Given the description of an element on the screen output the (x, y) to click on. 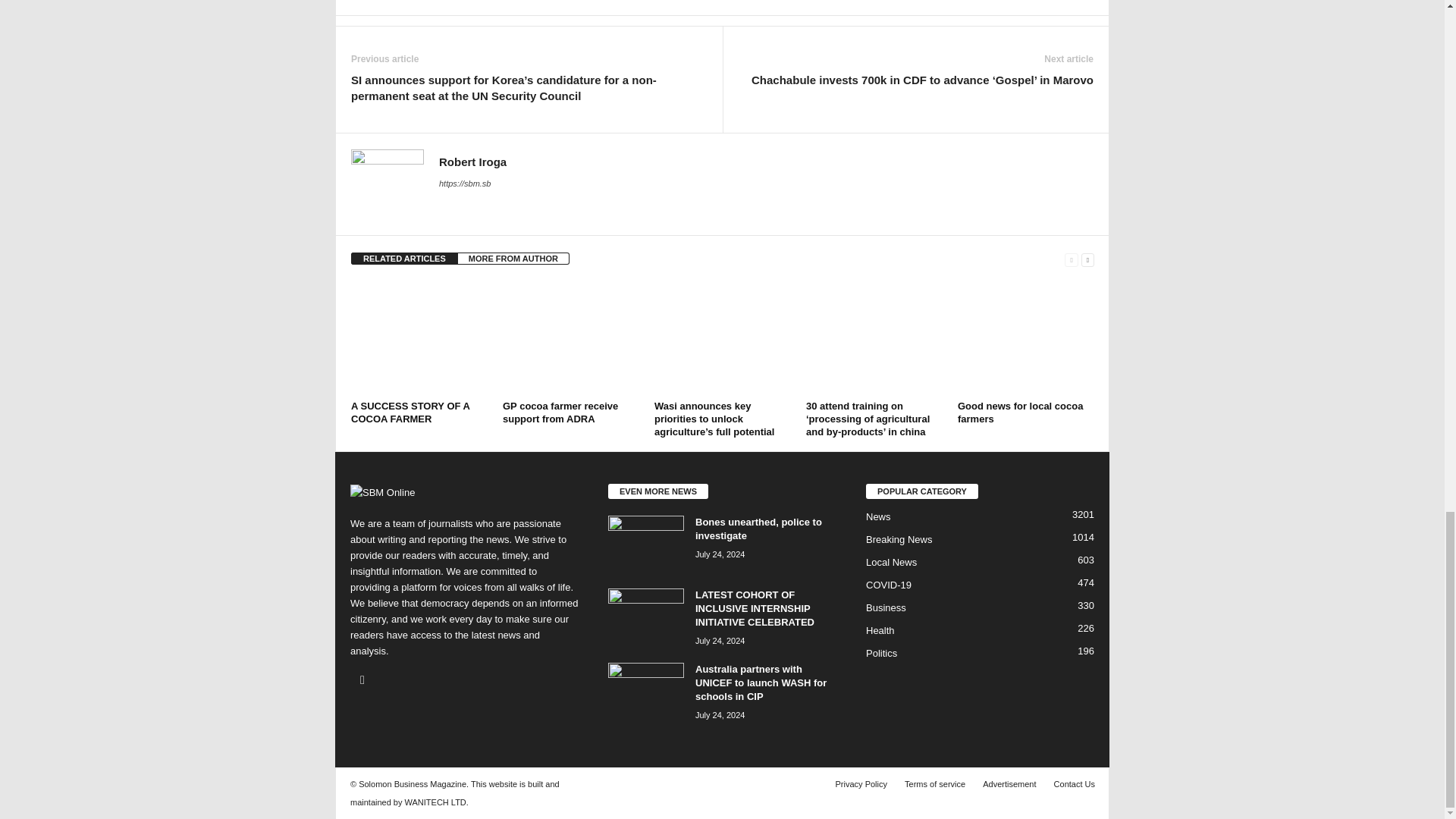
A SUCCESS STORY OF A COCOA FARMER (418, 337)
GP cocoa farmer receive support from ADRA (570, 337)
A SUCCESS STORY OF A COCOA FARMER (410, 412)
